Given the description of an element on the screen output the (x, y) to click on. 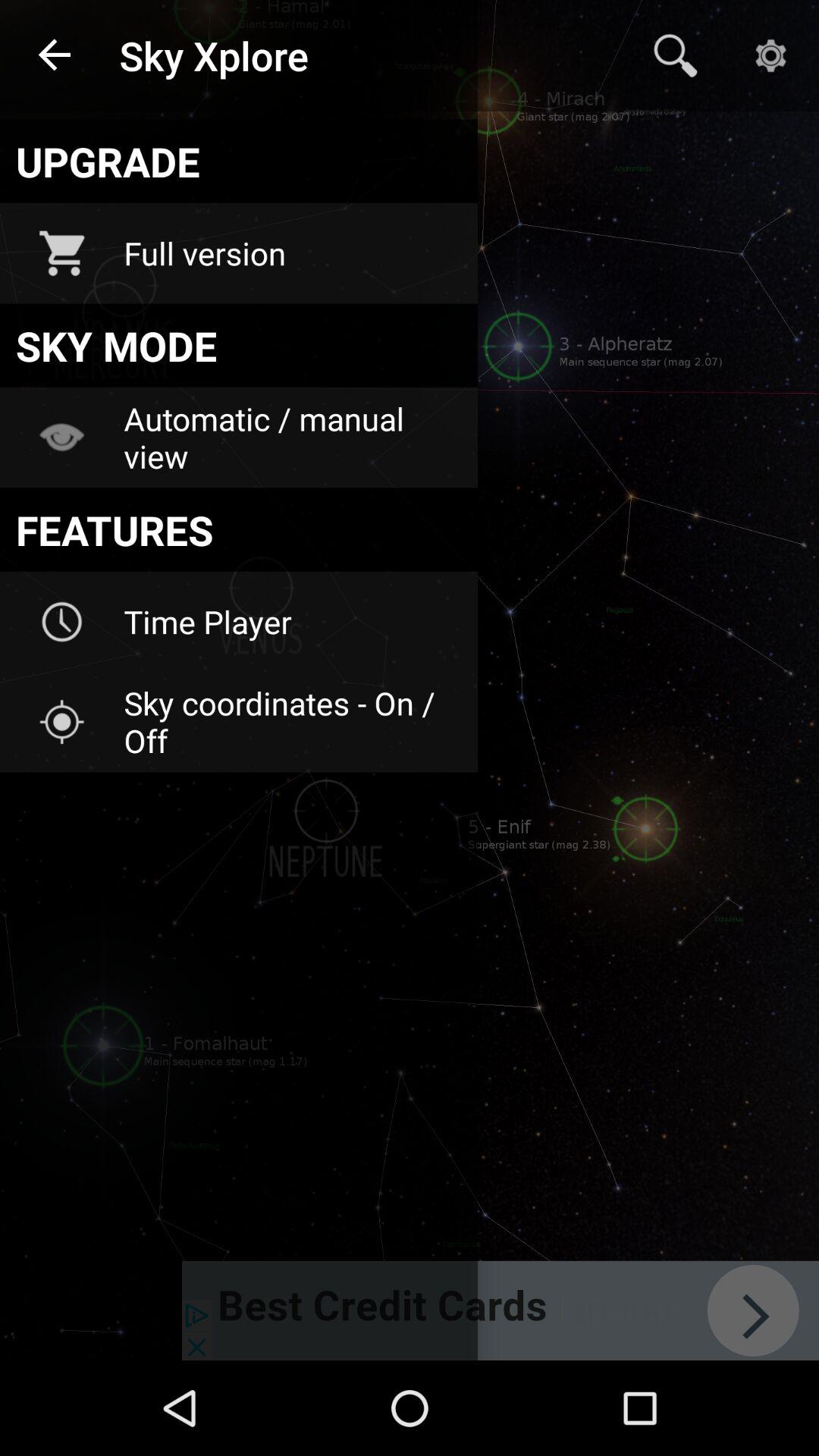
press icon above the time player (238, 529)
